Given the description of an element on the screen output the (x, y) to click on. 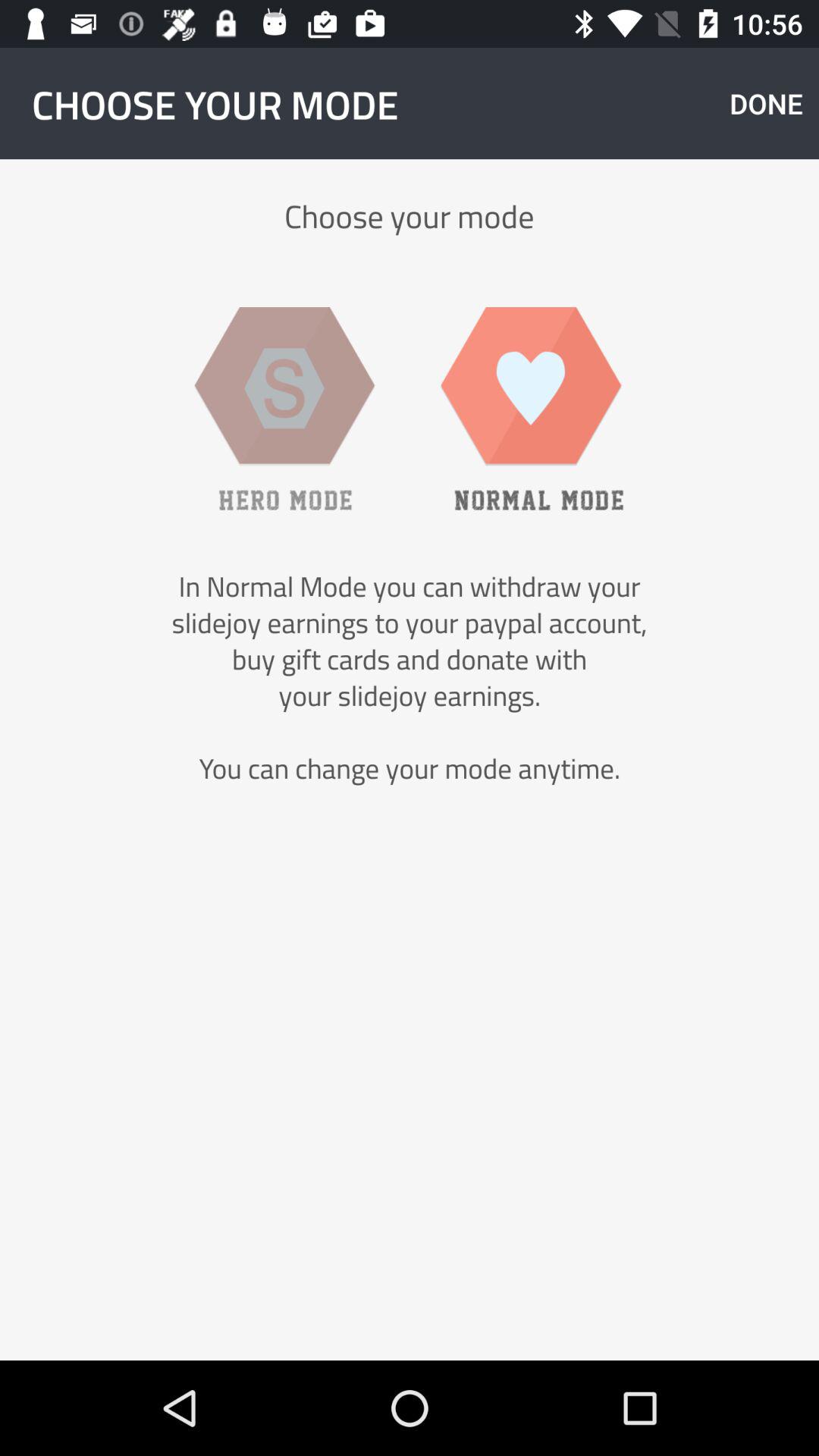
chose game mode (284, 408)
